Given the description of an element on the screen output the (x, y) to click on. 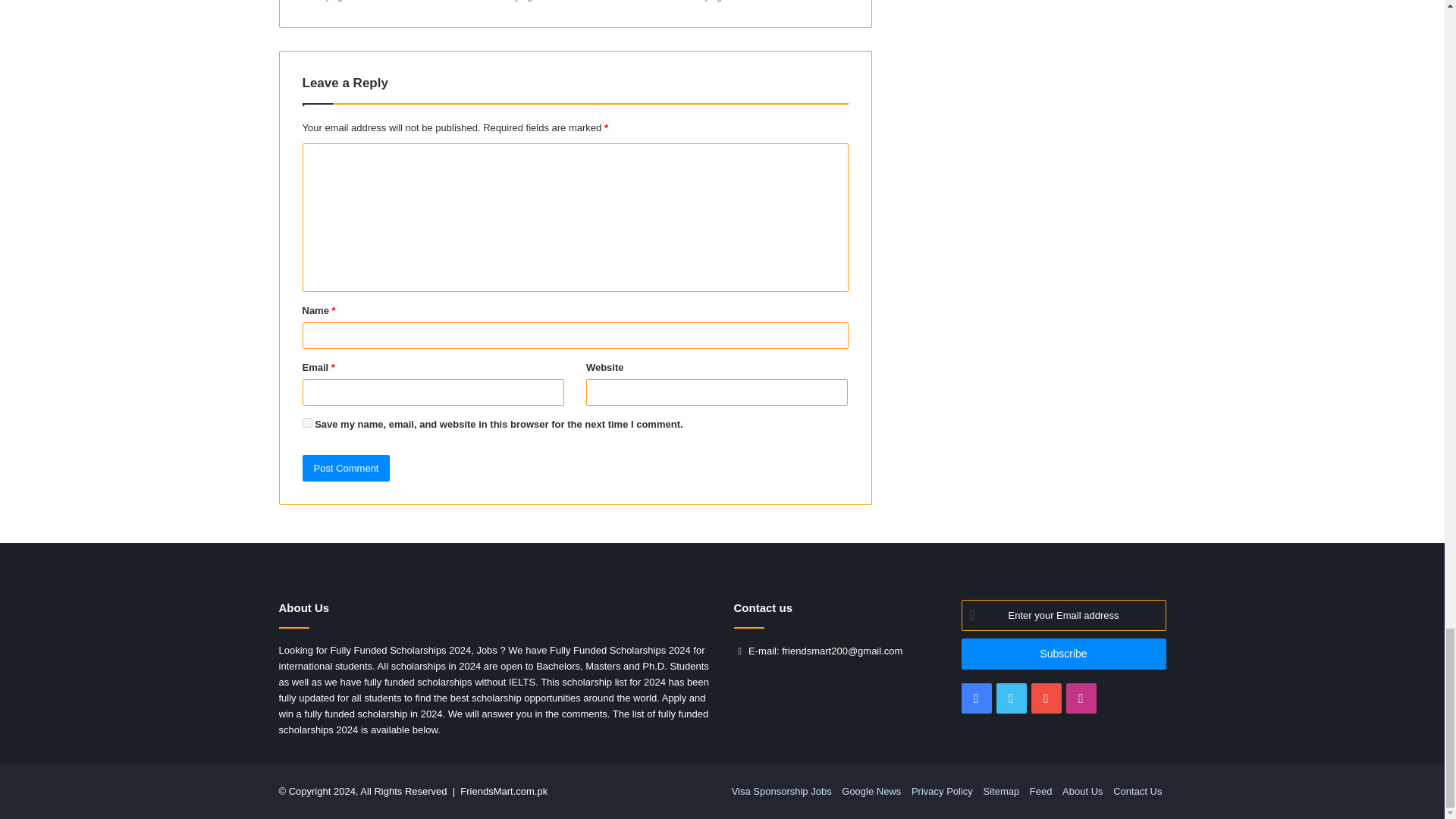
Subscribe (1063, 653)
Post Comment (345, 468)
yes (306, 422)
